Given the description of an element on the screen output the (x, y) to click on. 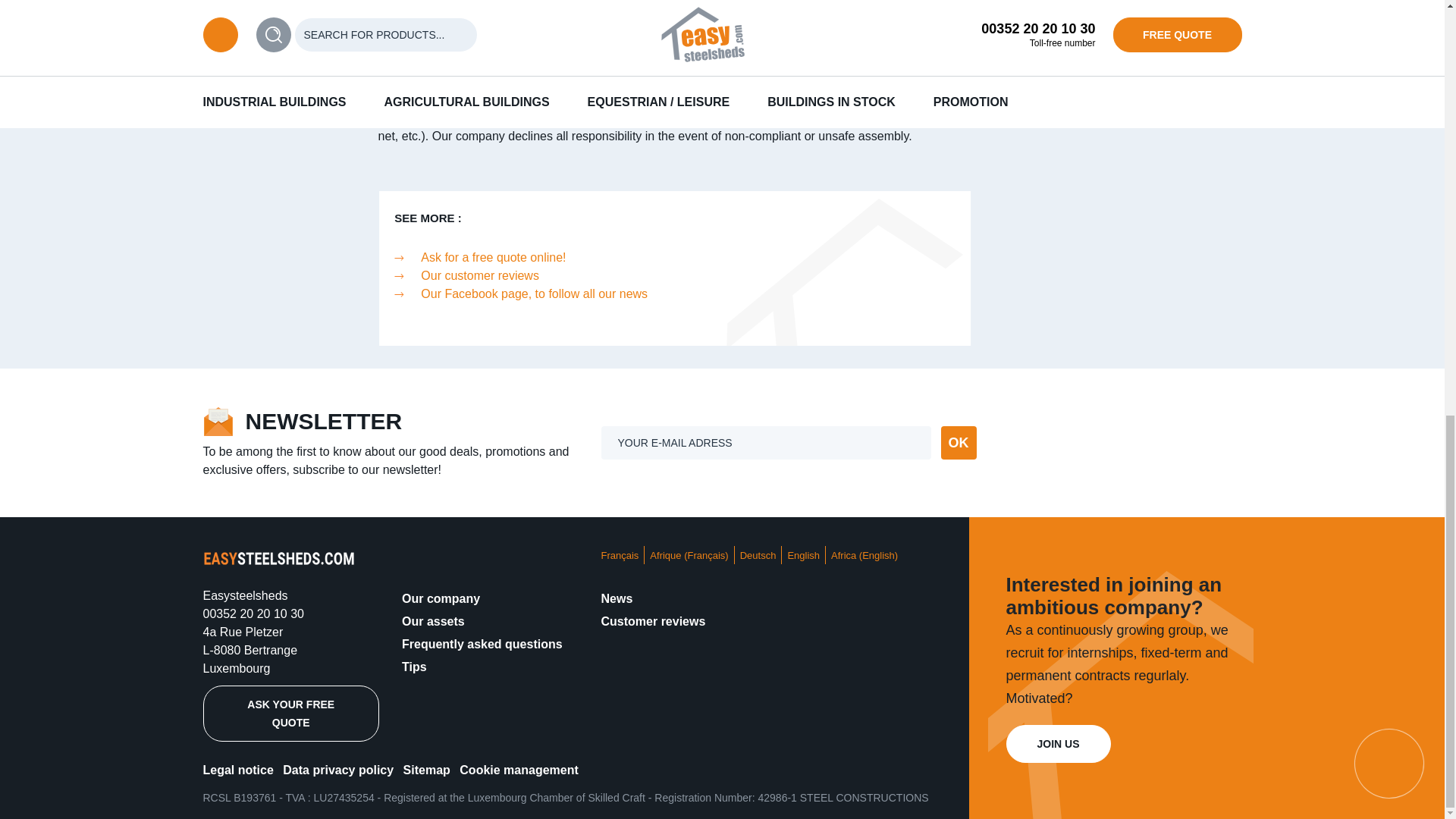
OK (957, 442)
Legal notice (238, 769)
News (615, 598)
Deutsch (757, 555)
Our Facebook page, to follow all our news (533, 293)
Ask for a free quote online! (493, 256)
OK (957, 442)
Cookie management (519, 769)
English (803, 555)
Sitemap (426, 769)
JOIN US (1057, 743)
Customer reviews (651, 621)
Our assets (432, 621)
ASK YOUR FREE QUOTE (291, 713)
Data privacy policy (337, 769)
